Given the description of an element on the screen output the (x, y) to click on. 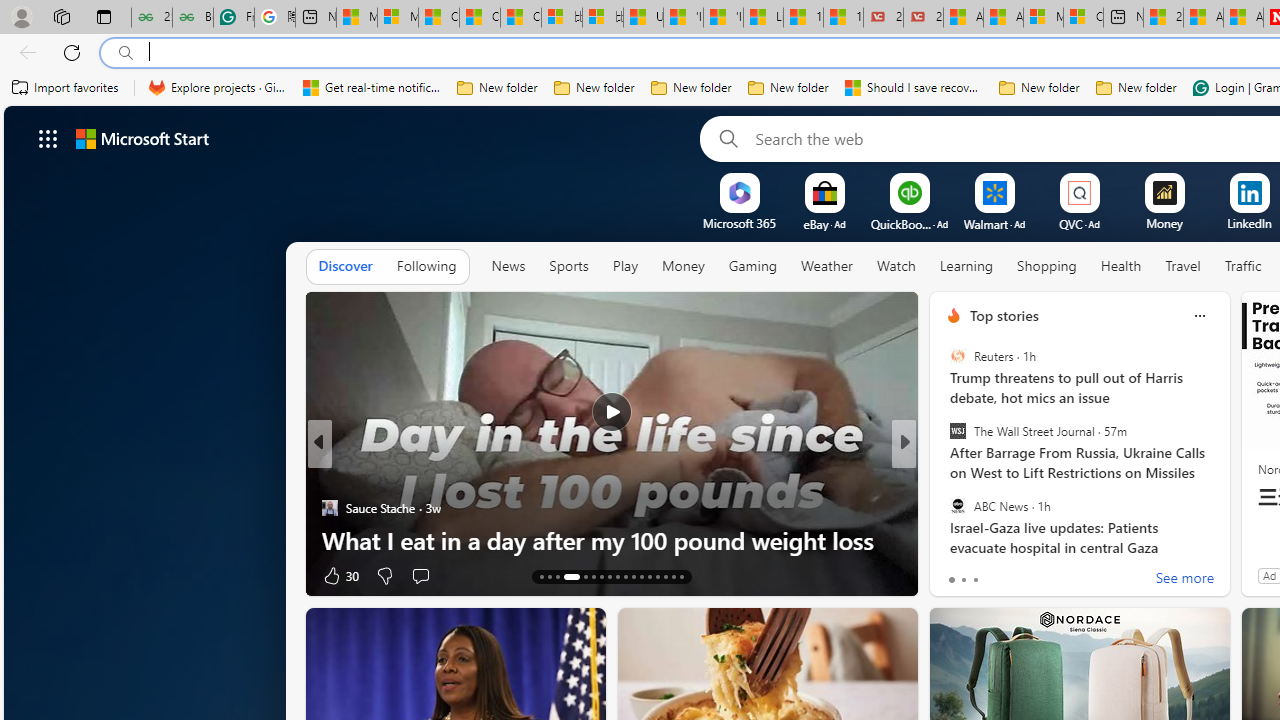
Groovy Era (944, 475)
View comments 9 Comment (1048, 574)
Weather (826, 267)
Class: control (47, 138)
20 Ways to Boost Your Protein Intake at Every Meal (1163, 17)
Cloud Computing Services | Microsoft Azure (1083, 17)
8 Like (952, 574)
The Wall Street Journal (957, 431)
39 Like (956, 574)
Microsoft start (142, 138)
tab-1 (963, 579)
